Given the description of an element on the screen output the (x, y) to click on. 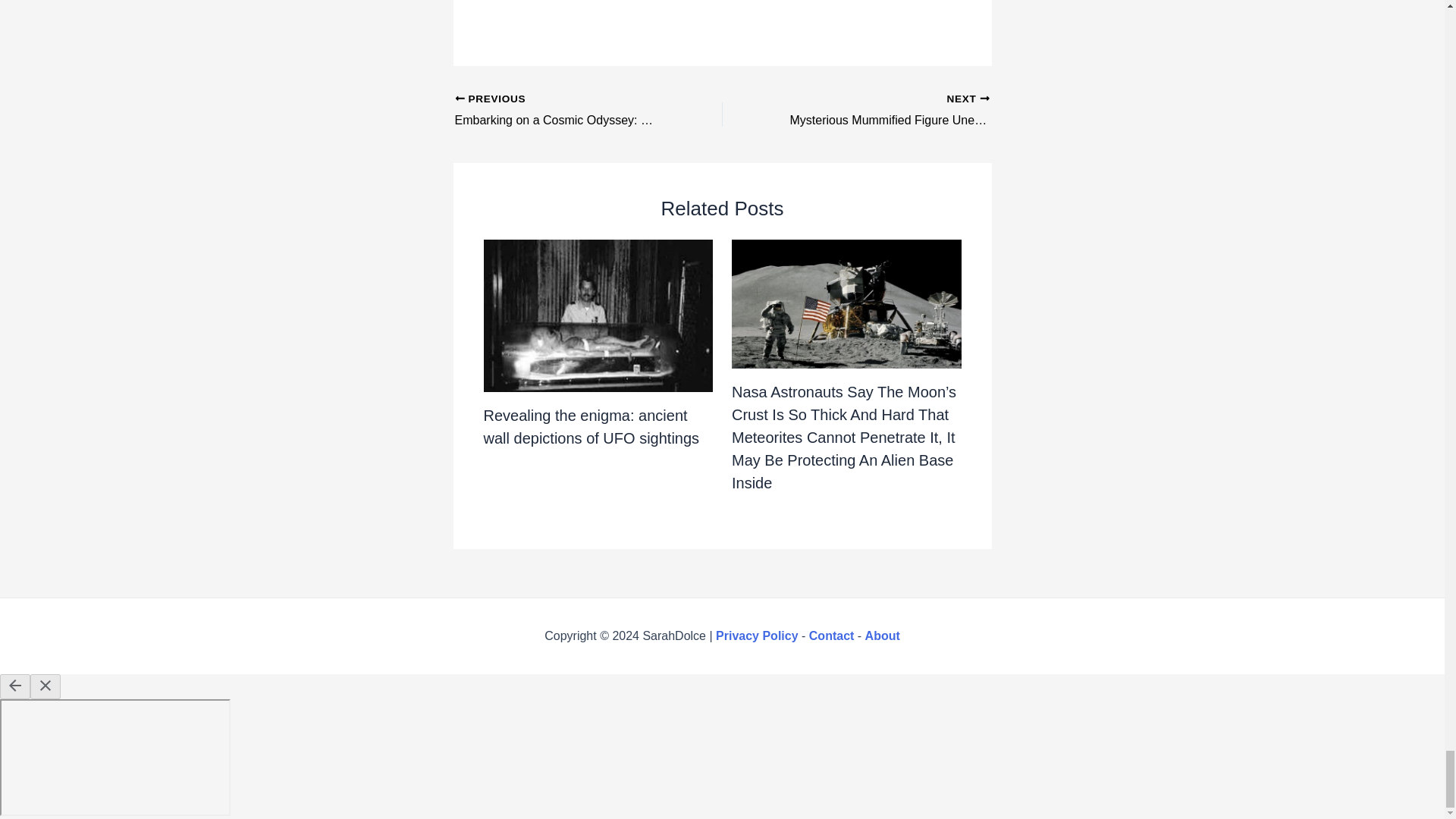
About (881, 635)
Privacy Policy (756, 635)
Contact (831, 635)
